Given the description of an element on the screen output the (x, y) to click on. 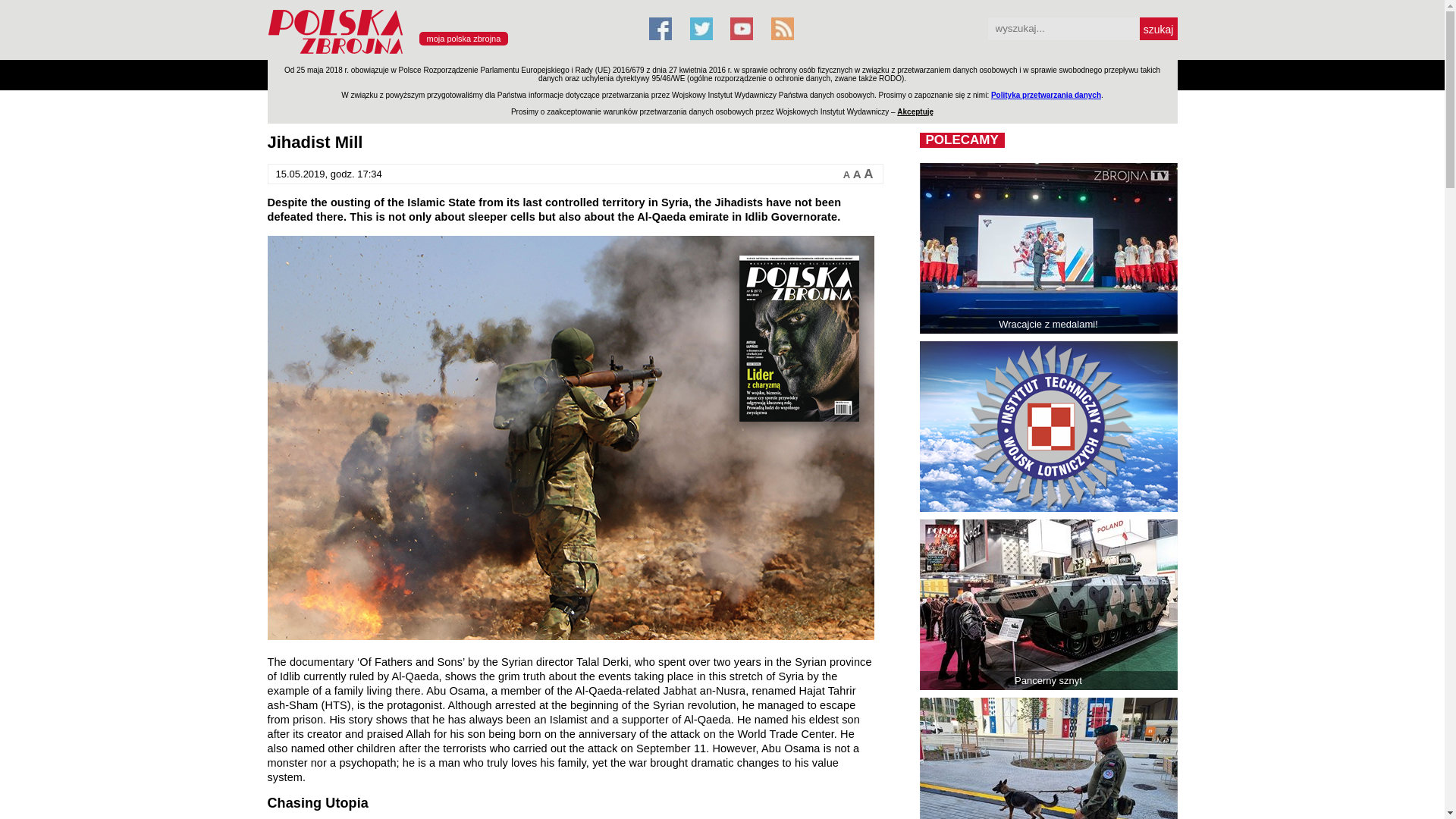
szukaj (1157, 28)
Wideo (829, 74)
Youtube (741, 28)
Prawo (522, 74)
Polityka (473, 74)
Historia (730, 74)
Galerie (781, 74)
Armia (286, 74)
Facebook (660, 28)
Polska Zbrojna (448, 53)
Twitter (701, 28)
Poligon (334, 74)
Polityka przetwarzania danych (1045, 94)
szukaj (1157, 28)
Misje (426, 74)
